Given the description of an element on the screen output the (x, y) to click on. 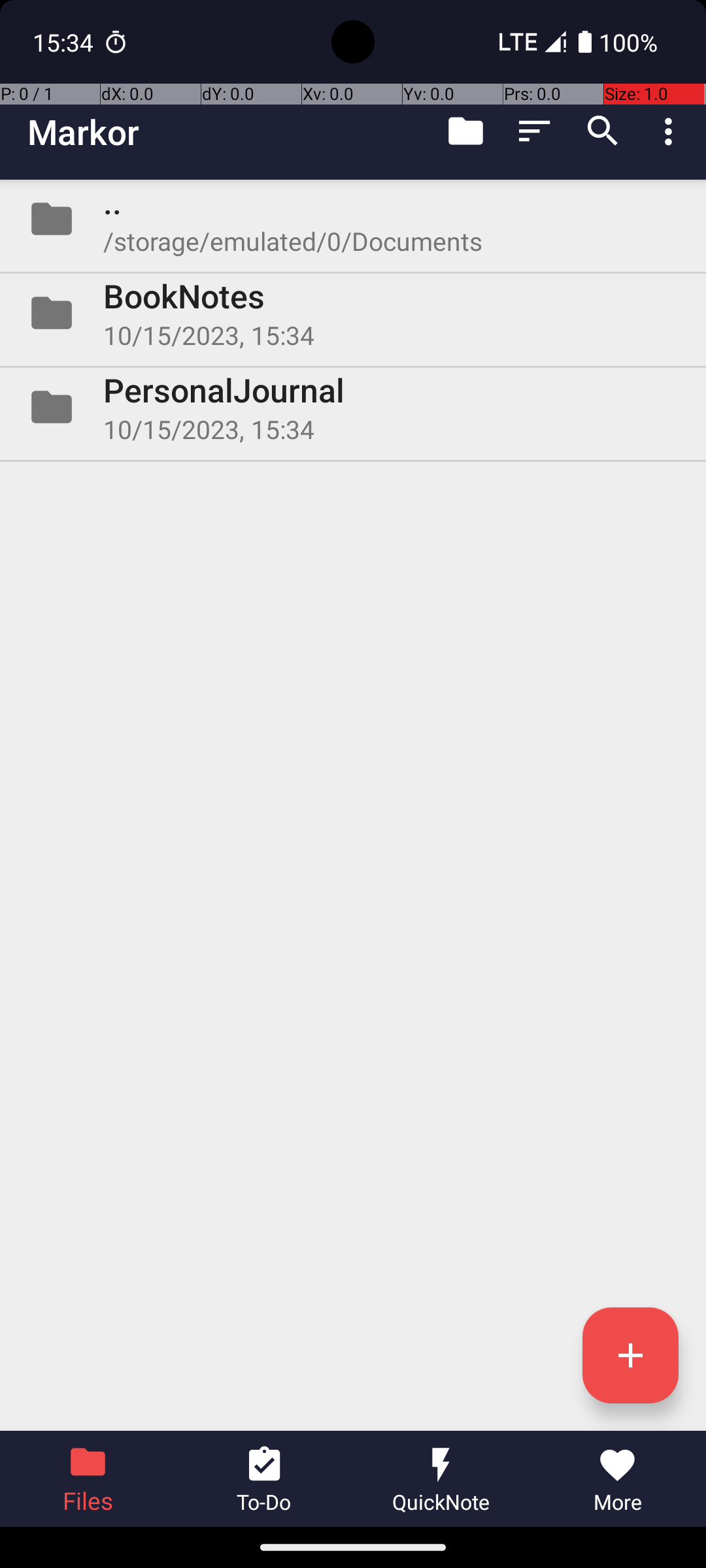
Folder BookNotes  Element type: android.widget.LinearLayout (353, 312)
Folder PersonalJournal  Element type: android.widget.LinearLayout (353, 406)
